Given the description of an element on the screen output the (x, y) to click on. 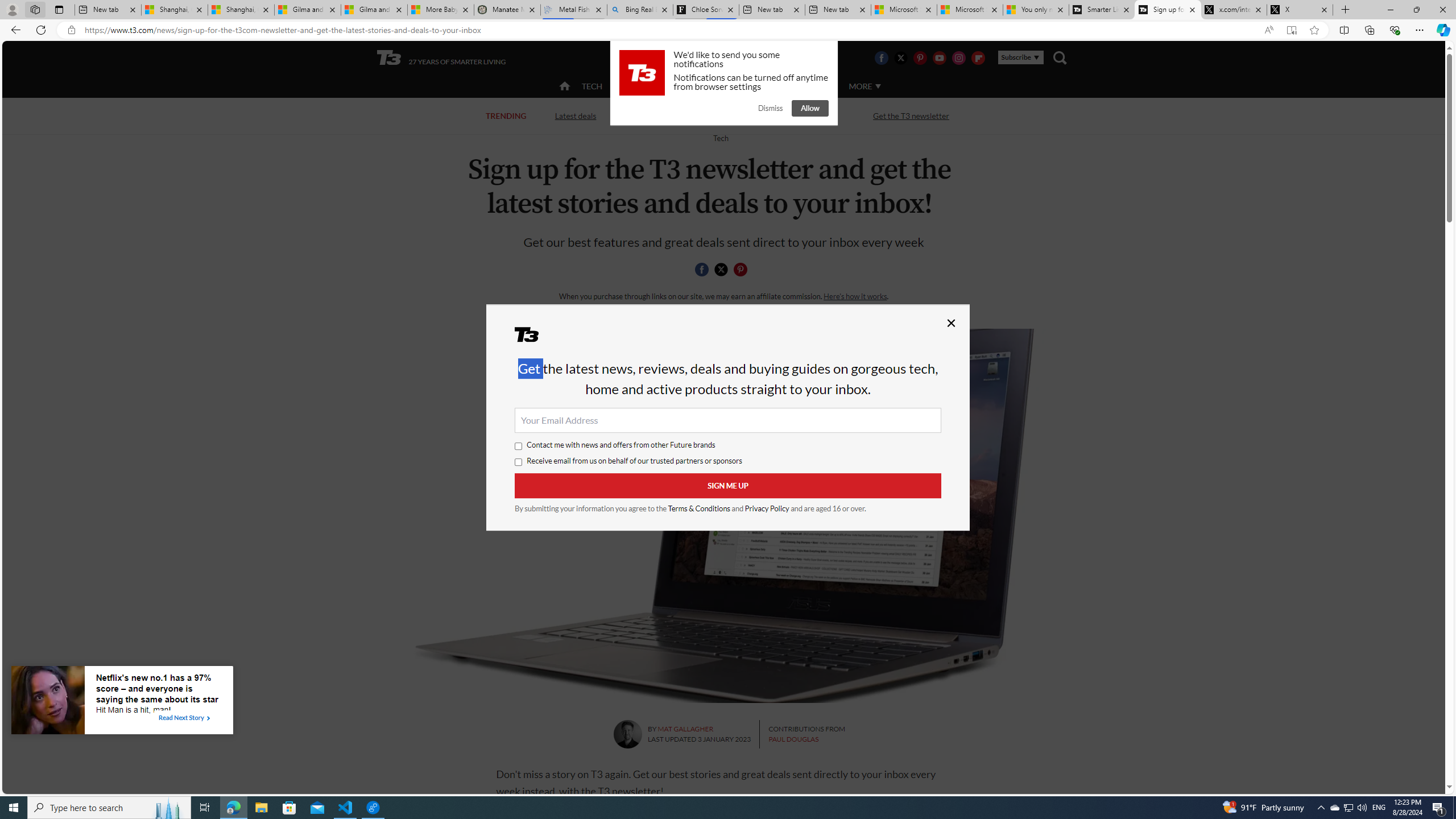
Share this page on Twitter (720, 269)
flag of UK (752, 57)
T3 (534, 338)
Share this page on Pintrest (739, 269)
Visit us on Twitter (900, 57)
Gilma and Hector both pose tropical trouble for Hawaii (374, 9)
Latest deals (574, 115)
MORE  (863, 86)
Shanghai, China weather forecast | Microsoft Weather (240, 9)
LUXURY (765, 86)
Get the T3 newsletter (911, 115)
